Given the description of an element on the screen output the (x, y) to click on. 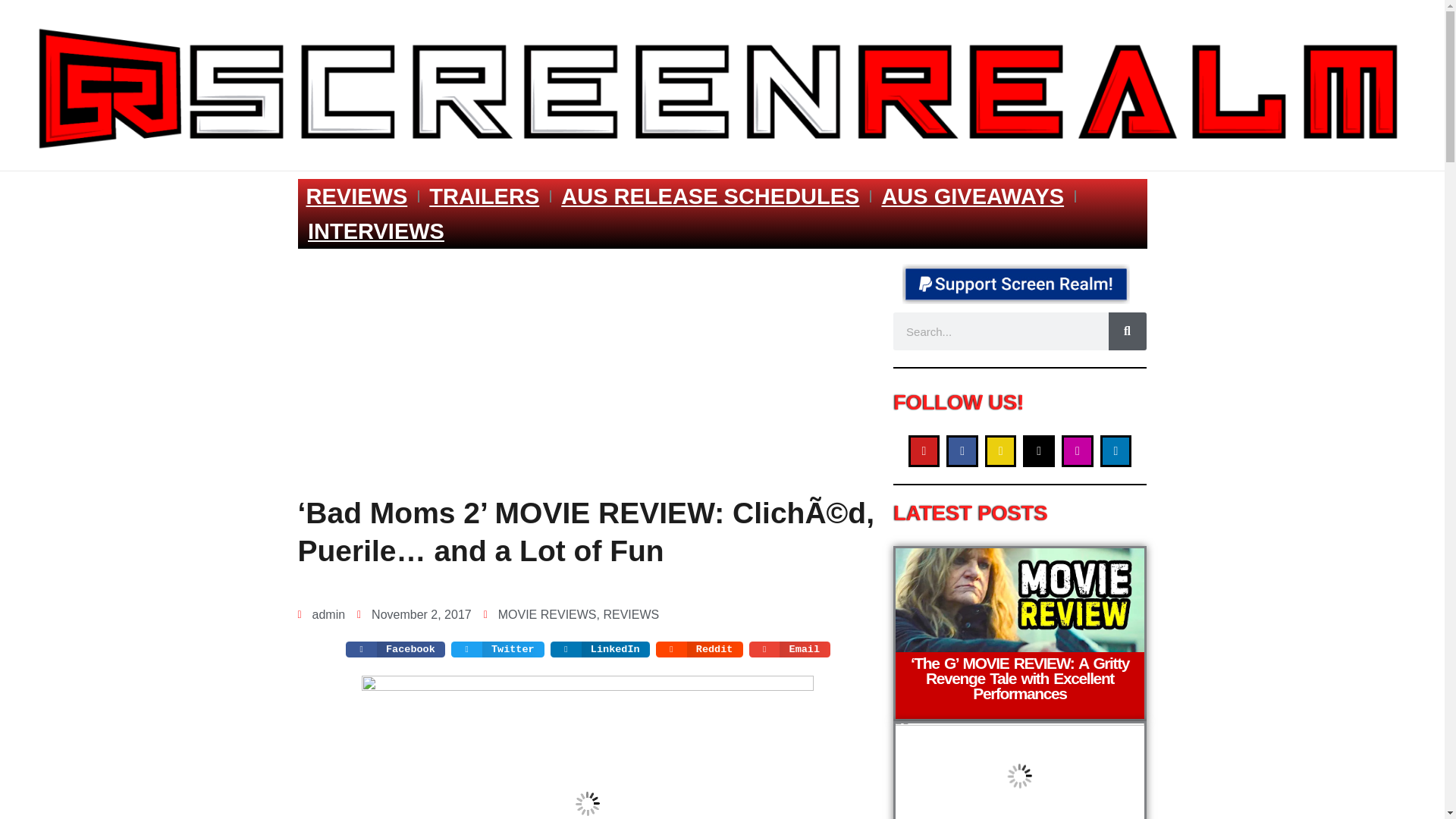
REVIEWS (355, 196)
MOVIE REVIEWS (546, 614)
Youtube (924, 450)
X-twitter (1038, 450)
AUS RELEASE SCHEDULES (710, 196)
Search (1127, 331)
REVIEWS (630, 614)
Instagram (1077, 450)
TRAILERS (483, 196)
AUS GIVEAWAYS (971, 196)
